Given the description of an element on the screen output the (x, y) to click on. 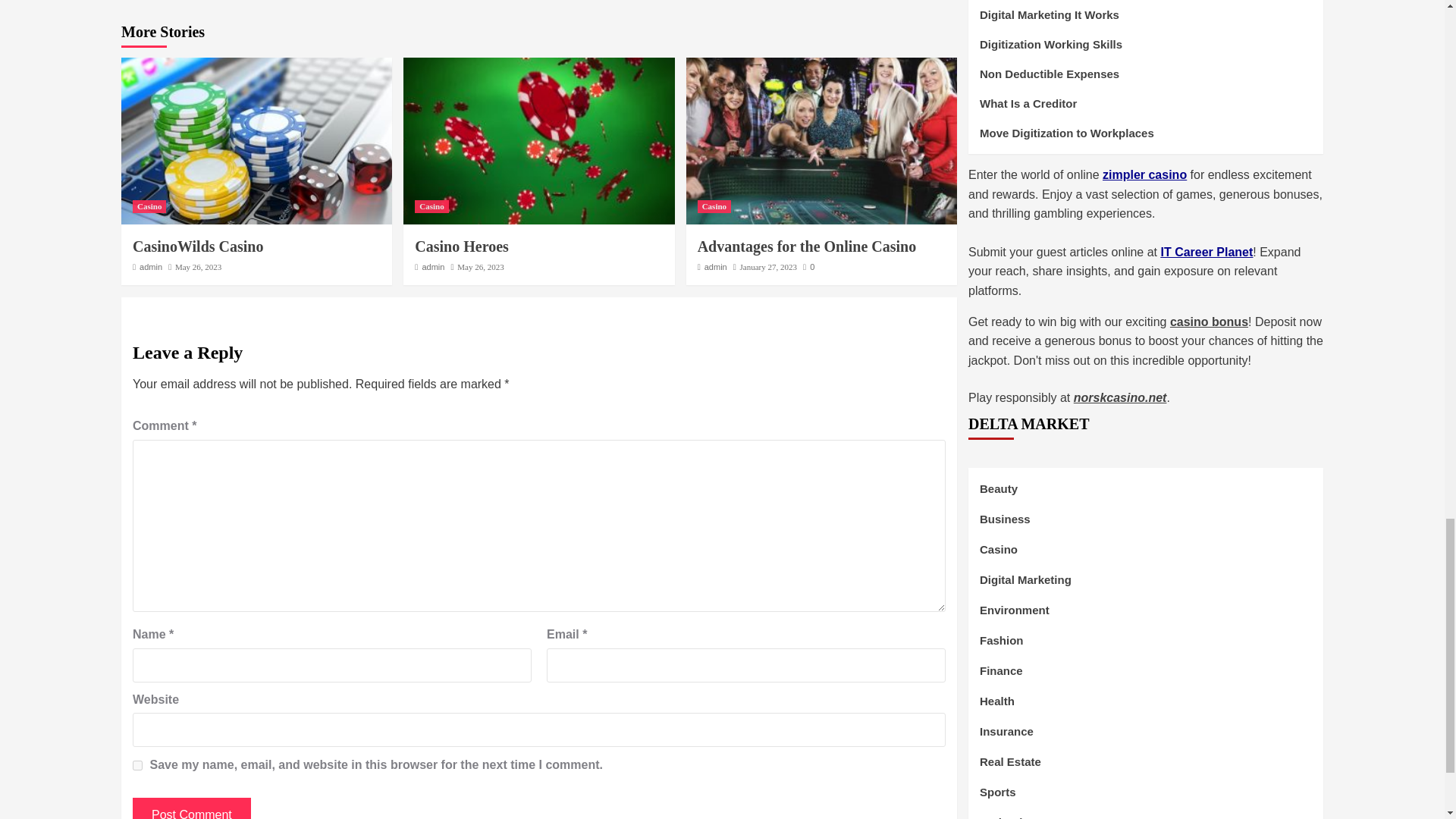
CasinoWilds Casino (197, 246)
Advantages for the Online Casino (807, 246)
Post Comment (191, 808)
admin (715, 266)
Casino Heroes (461, 246)
Casino (713, 205)
yes (137, 765)
May 26, 2023 (197, 266)
January 27, 2023 (767, 266)
0 (808, 266)
admin (150, 266)
admin (433, 266)
May 26, 2023 (480, 266)
Casino (148, 205)
Casino (431, 205)
